Given the description of an element on the screen output the (x, y) to click on. 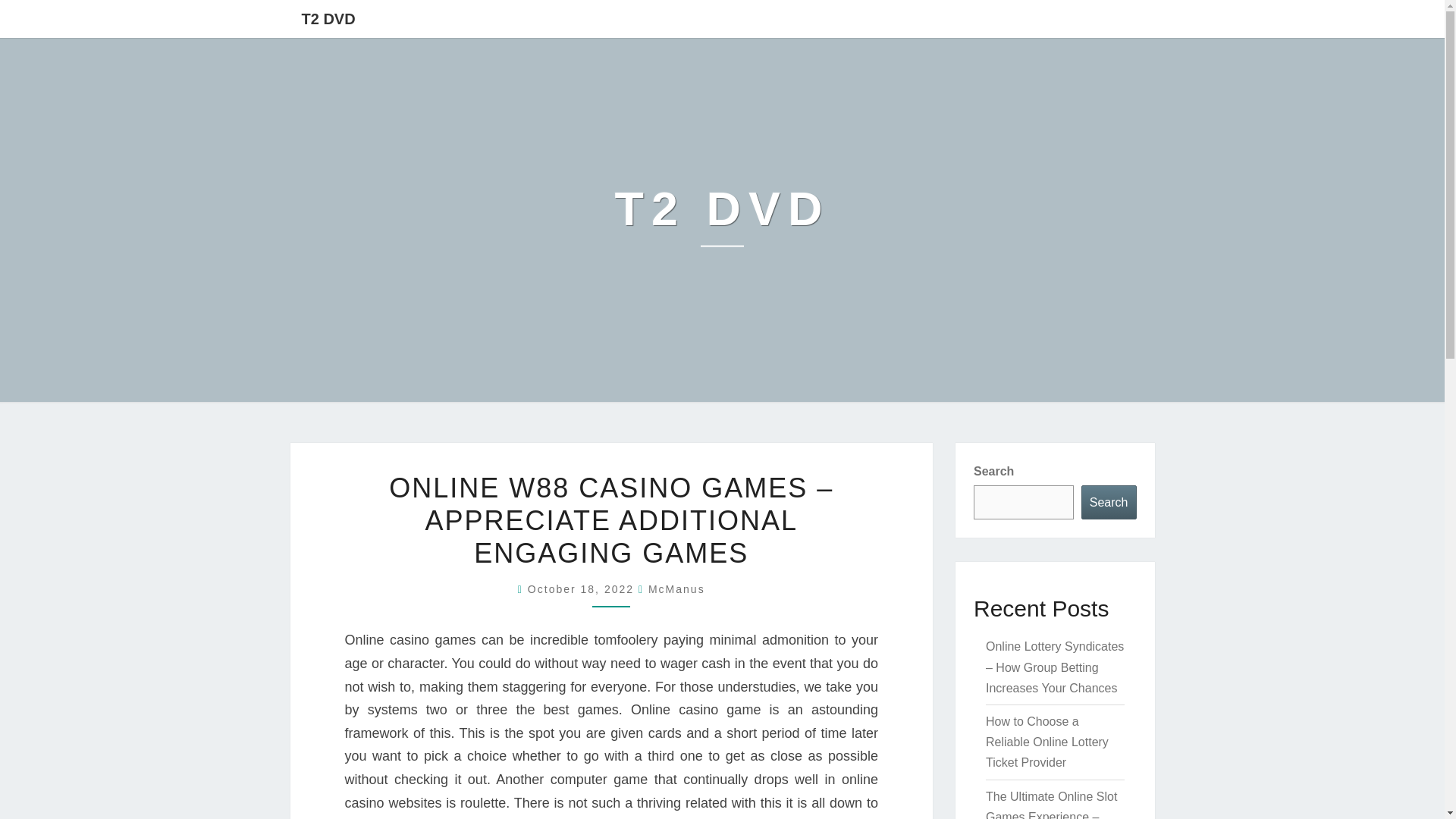
T2 DVD (721, 220)
McManus (675, 589)
T2 Dvd (721, 220)
T2 DVD (327, 18)
View all posts by McManus (675, 589)
How to Choose a Reliable Online Lottery Ticket Provider (1046, 741)
October 18, 2022 (583, 589)
7:02 am (583, 589)
Search (1109, 502)
